Given the description of an element on the screen output the (x, y) to click on. 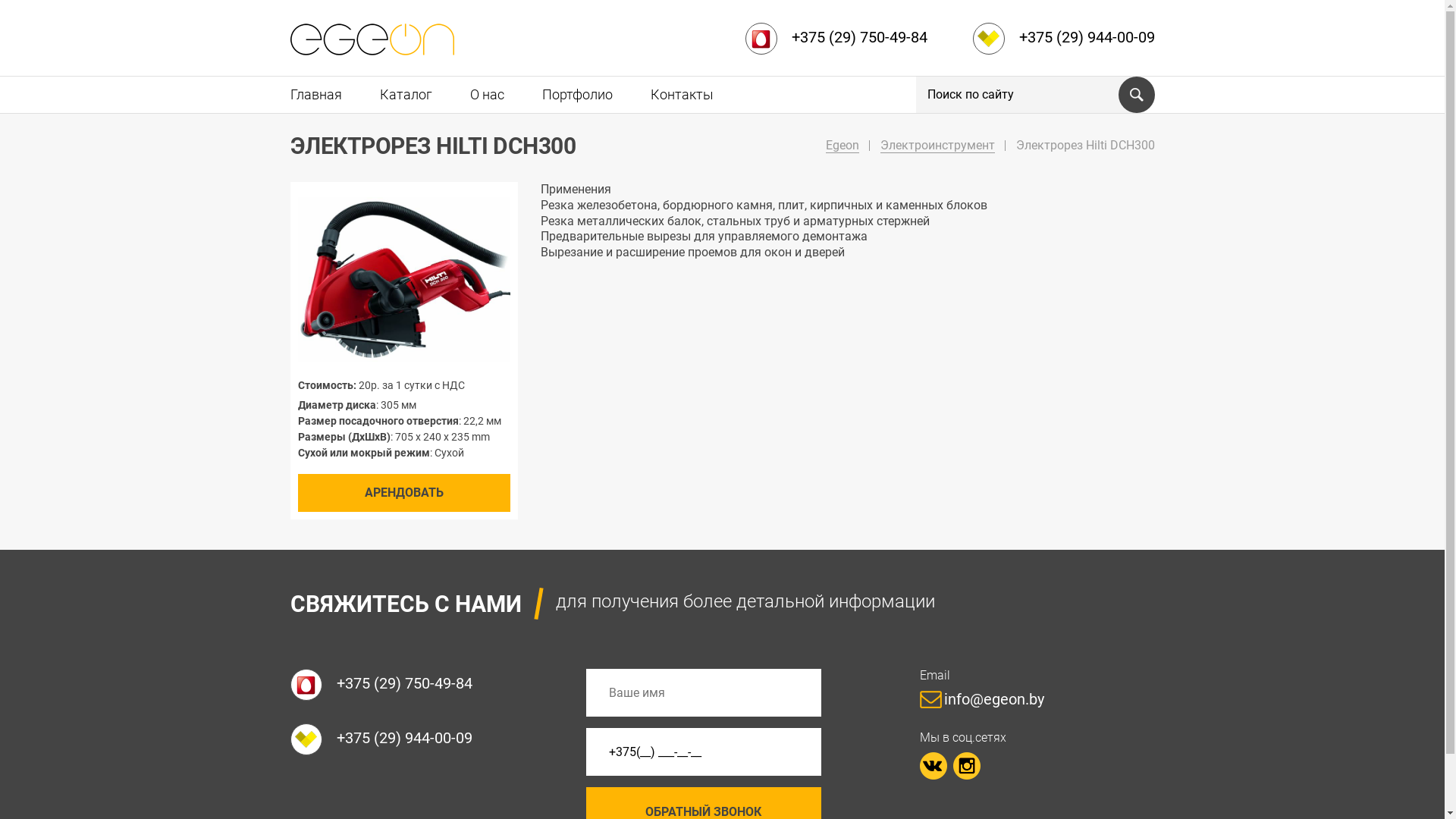
+375 (29) 944-00-09 Element type: text (1063, 48)
+375 (29) 750-49-84 Element type: text (835, 48)
+375 (29) 944-00-09 Element type: text (387, 739)
Egeon Element type: text (841, 145)
info@egeon.by Element type: text (986, 699)
+375 (29) 750-49-84 Element type: text (387, 684)
